Given the description of an element on the screen output the (x, y) to click on. 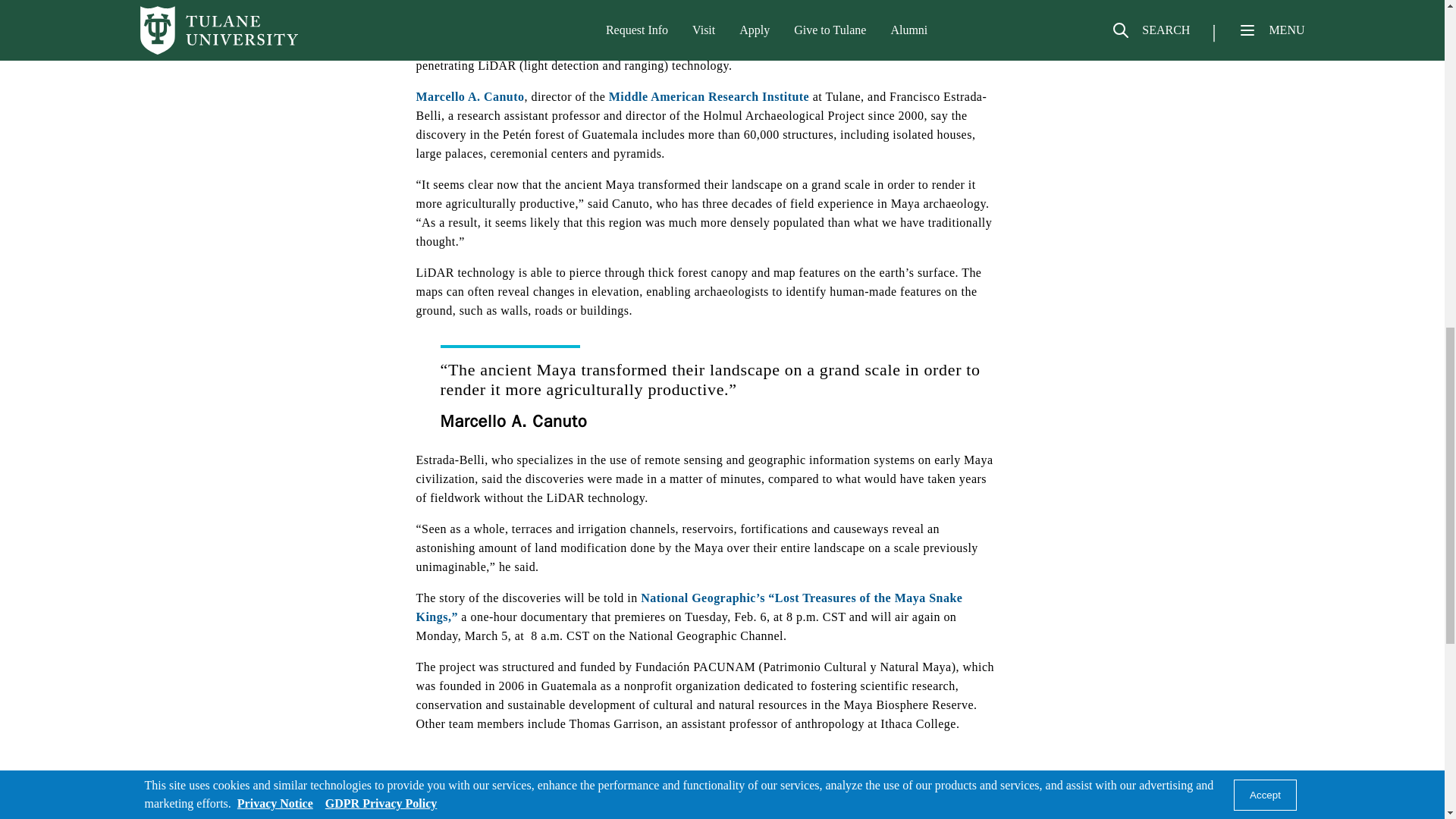
international media coverage and acclaim (690, 37)
Middle American Research Institute (708, 96)
Marcello A. Canuto (469, 96)
